Given the description of an element on the screen output the (x, y) to click on. 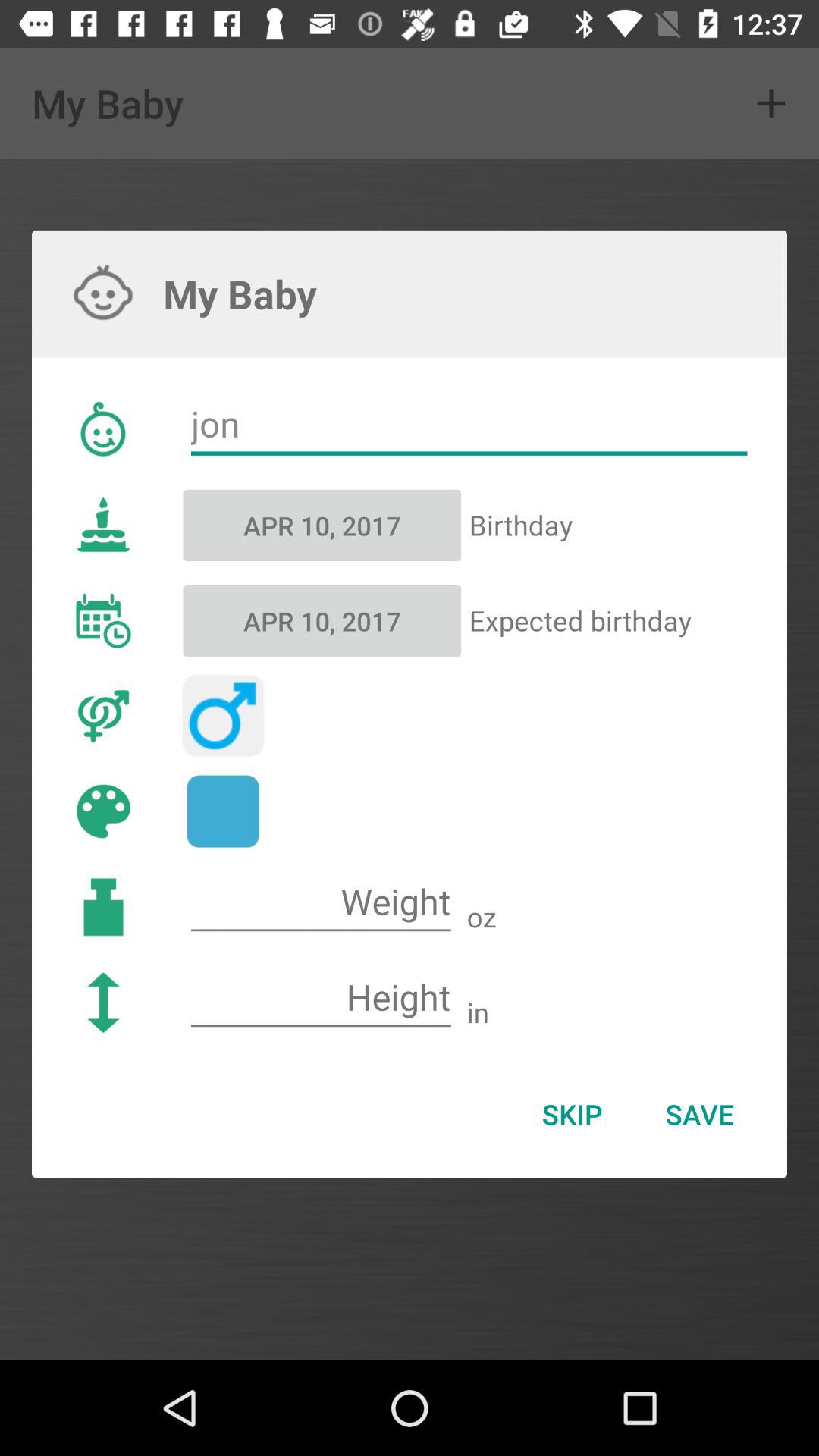
scroll to the skip icon (571, 1113)
